Given the description of an element on the screen output the (x, y) to click on. 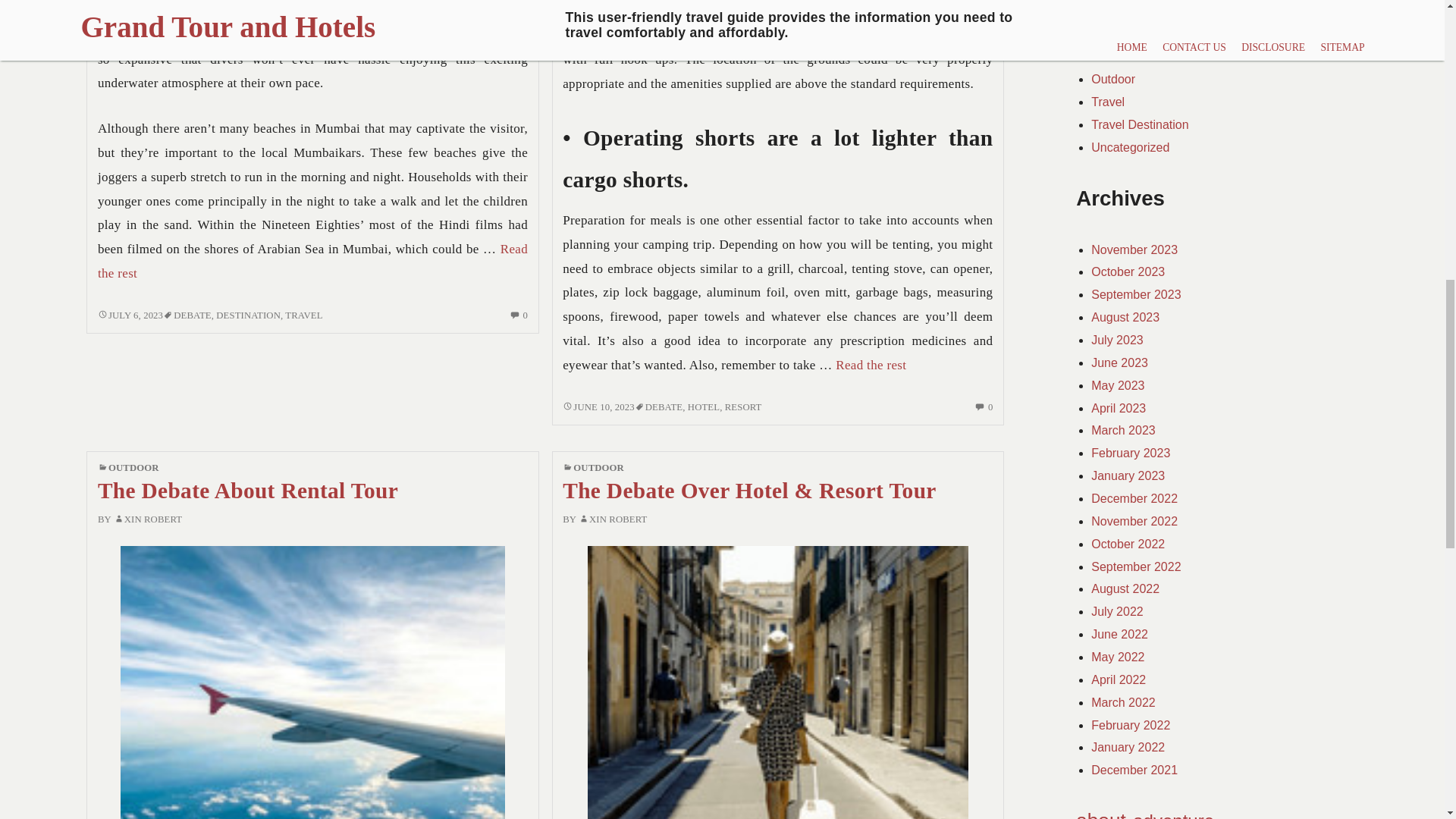
HOTEL (703, 407)
TRAVEL (303, 315)
The Debate About Rental Tour (247, 490)
DEBATE (663, 407)
OUTDOOR (598, 467)
DEBATE (192, 315)
Read the rest (312, 260)
RESORT (130, 315)
DESTINATION (743, 407)
XIN ROBERT (248, 315)
XIN ROBERT (612, 519)
Read the rest (148, 519)
OUTDOOR (870, 364)
